Given the description of an element on the screen output the (x, y) to click on. 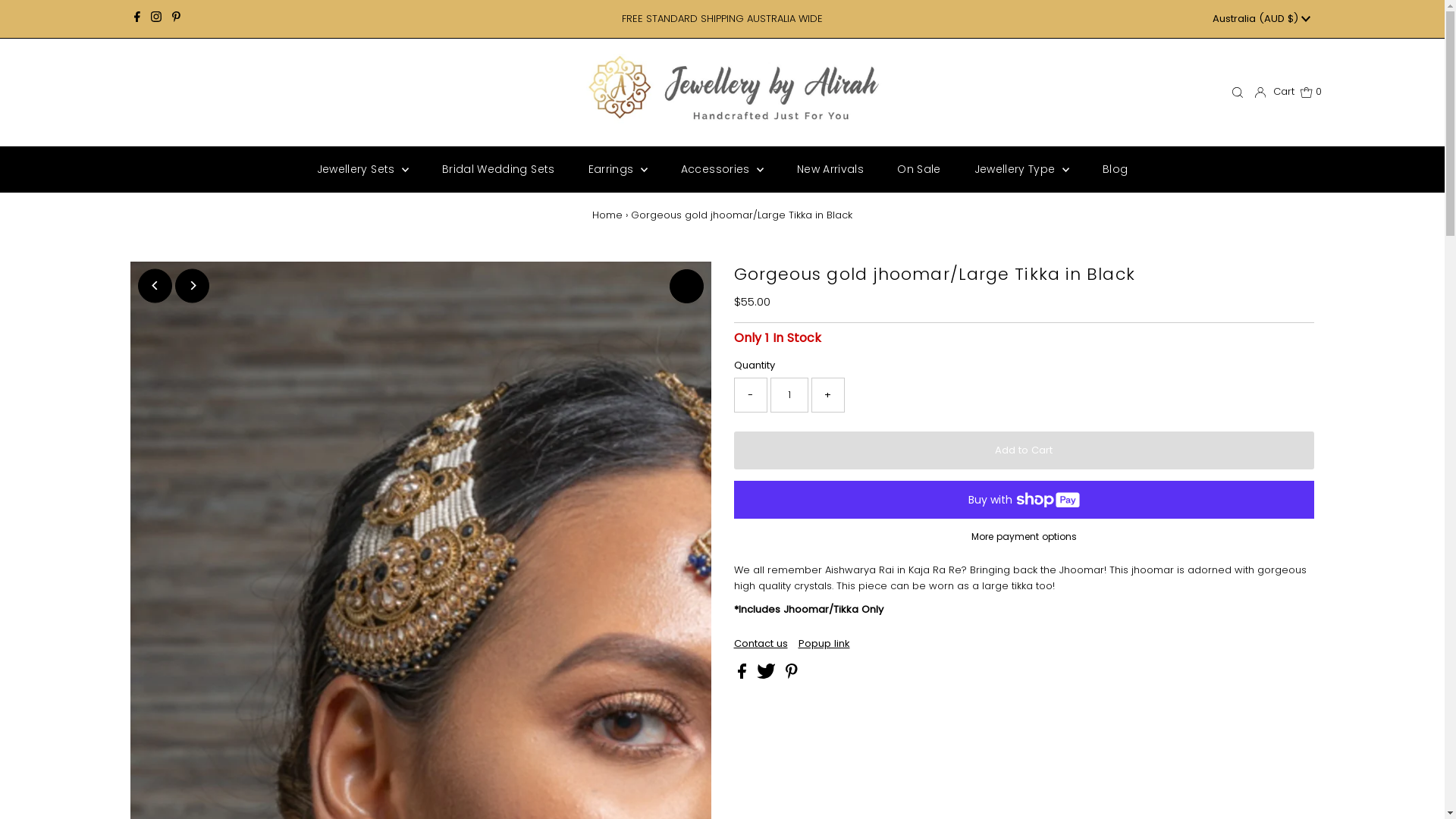
Bridal Wedding Sets Element type: text (498, 168)
Click to zoom Element type: hover (685, 286)
New Arrivals Element type: text (829, 168)
Popup link Element type: text (823, 643)
More payment options Element type: text (1024, 540)
Contact us Element type: text (760, 643)
Home Element type: text (607, 214)
On Sale Element type: text (918, 168)
Add to Cart Element type: text (1024, 450)
+ Element type: text (827, 394)
- Element type: text (750, 394)
Blog Element type: text (1114, 168)
